Given the description of an element on the screen output the (x, y) to click on. 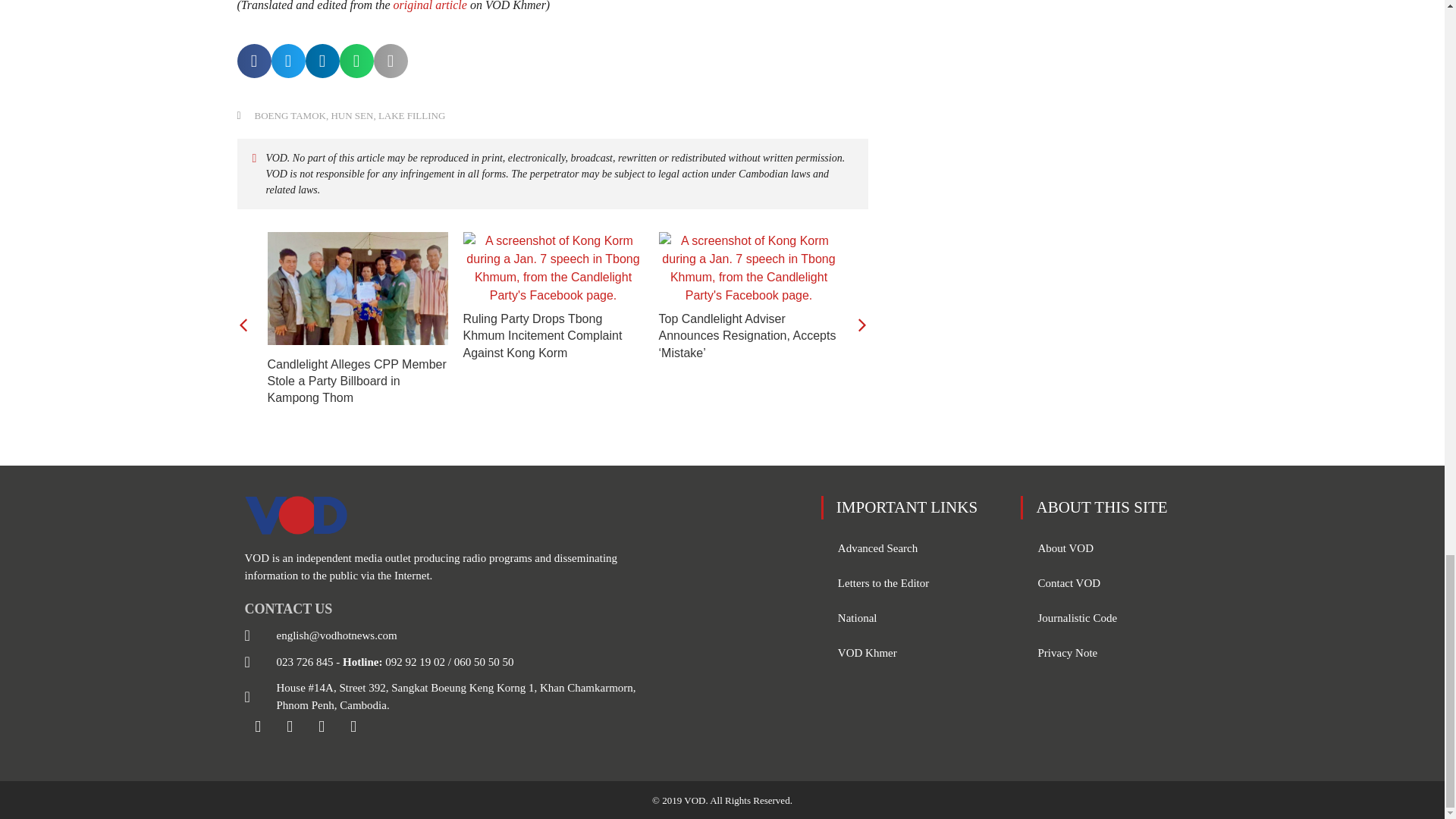
LAKE FILLING (411, 115)
BOENG TAMOK (290, 115)
Screen Shot 2023-01-11 at 7.20.34 PM 1 (748, 267)
HUN SEN (351, 115)
original article (430, 5)
Screen Shot 2023-01-11 at 7.20.34 PM 1 (553, 267)
